Given the description of an element on the screen output the (x, y) to click on. 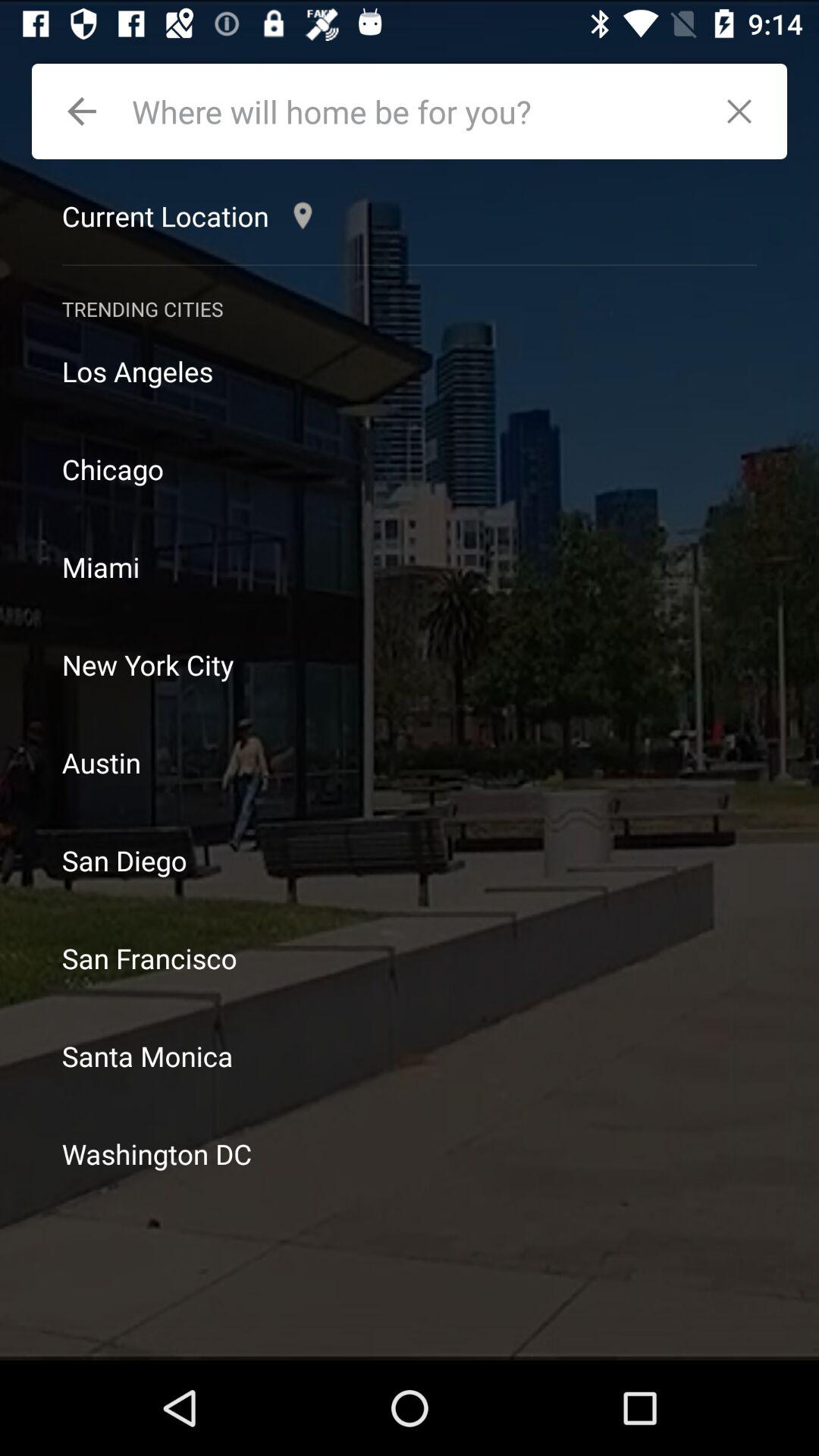
launch the current location (190, 215)
